Given the description of an element on the screen output the (x, y) to click on. 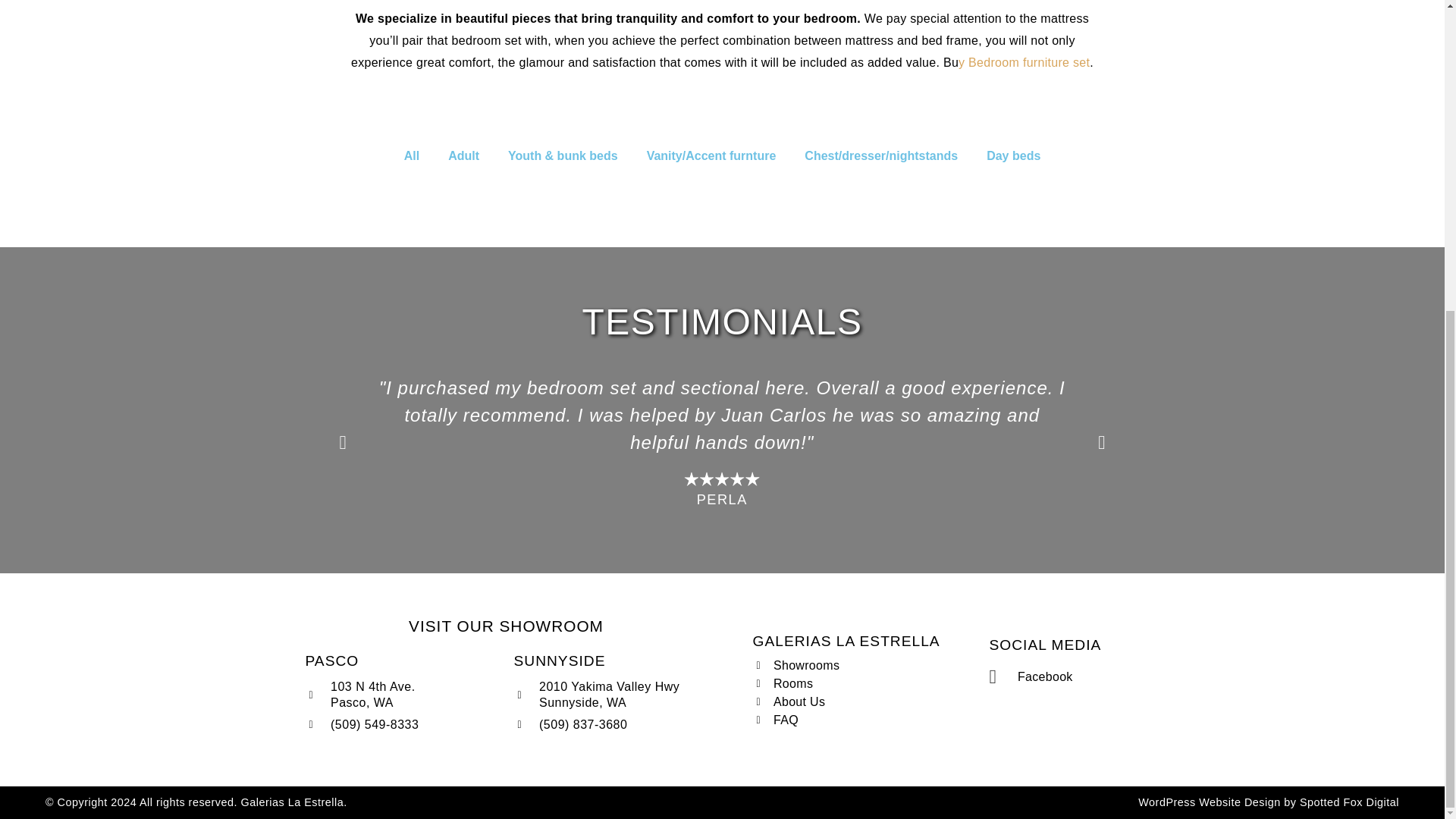
All (411, 155)
Adult (463, 155)
y Bedroom furniture set (1023, 62)
Day beds (1013, 155)
